Given the description of an element on the screen output the (x, y) to click on. 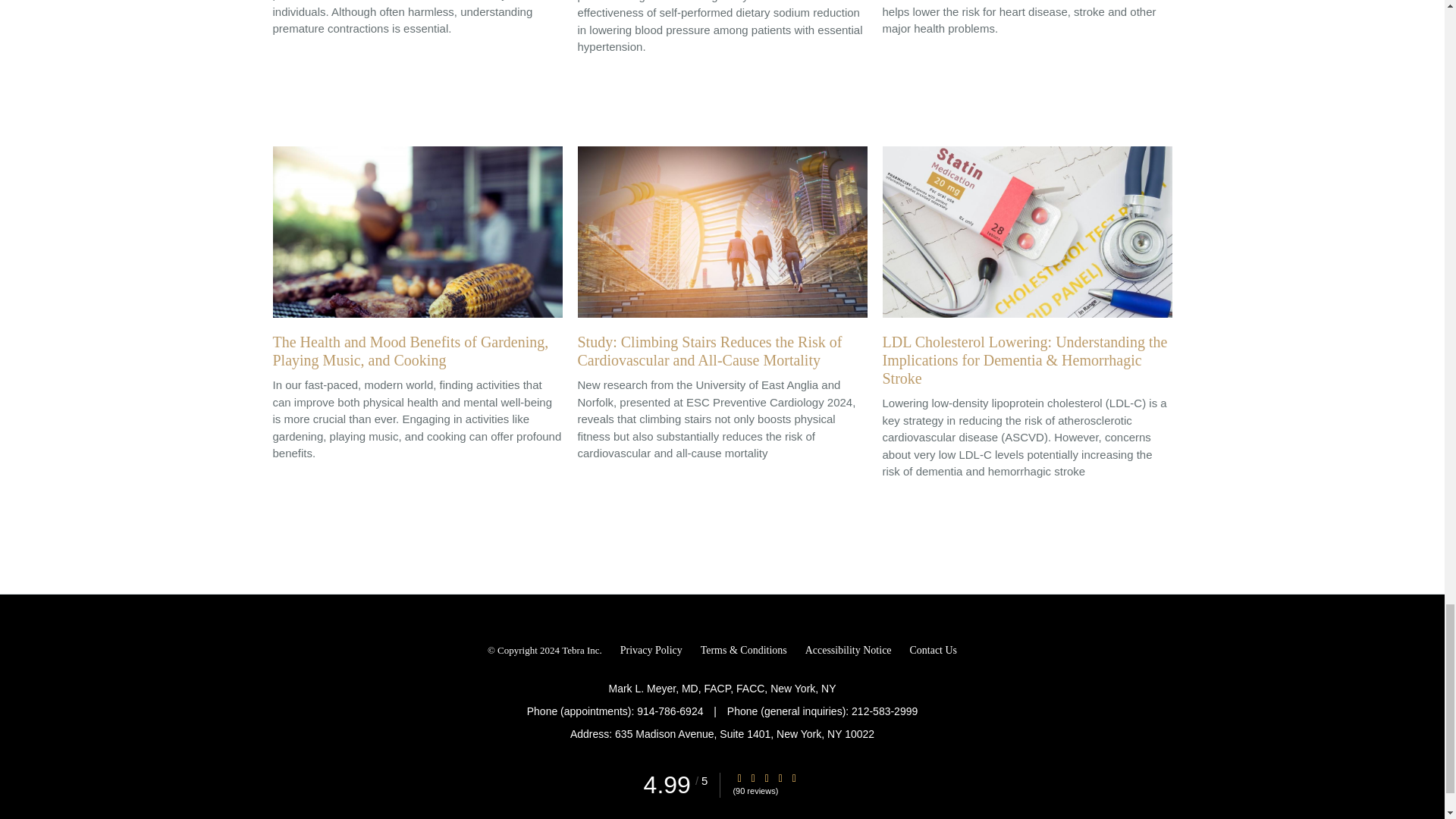
Star Rating (753, 778)
Star Rating (738, 778)
Star Rating (794, 778)
Star Rating (780, 778)
Star Rating (766, 778)
